Given the description of an element on the screen output the (x, y) to click on. 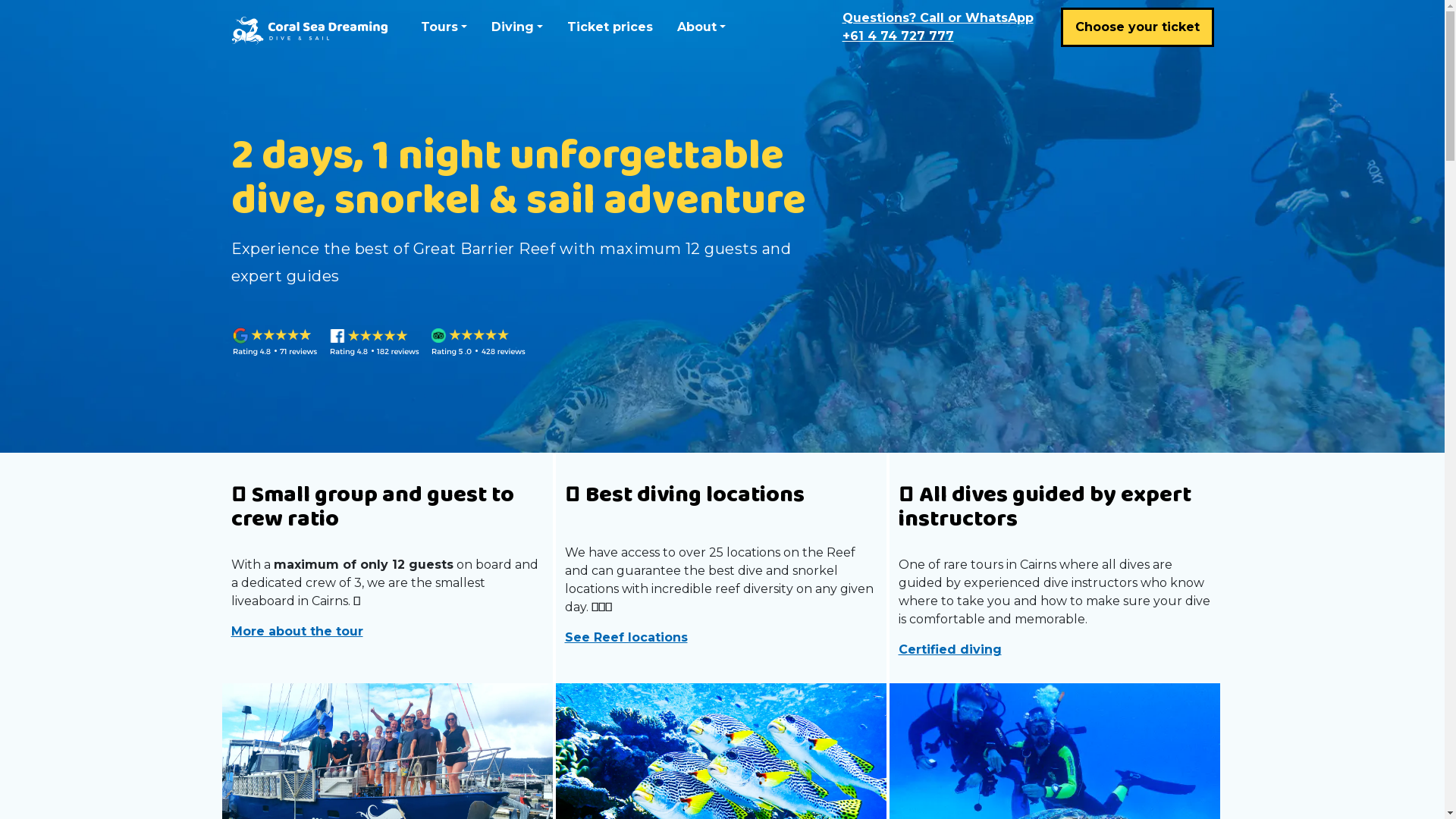
Ticket prices Element type: text (609, 27)
About Element type: text (701, 27)
Certified diving Element type: text (1053, 649)
Questions? Call or WhatsApp
+61 4 74 727 777 Element type: text (936, 27)
See Reef locations Element type: text (720, 637)
Diving Element type: text (517, 27)
Choose your ticket Element type: text (1136, 27)
Tours Element type: text (443, 27)
More about the tour Element type: text (386, 631)
